Given the description of an element on the screen output the (x, y) to click on. 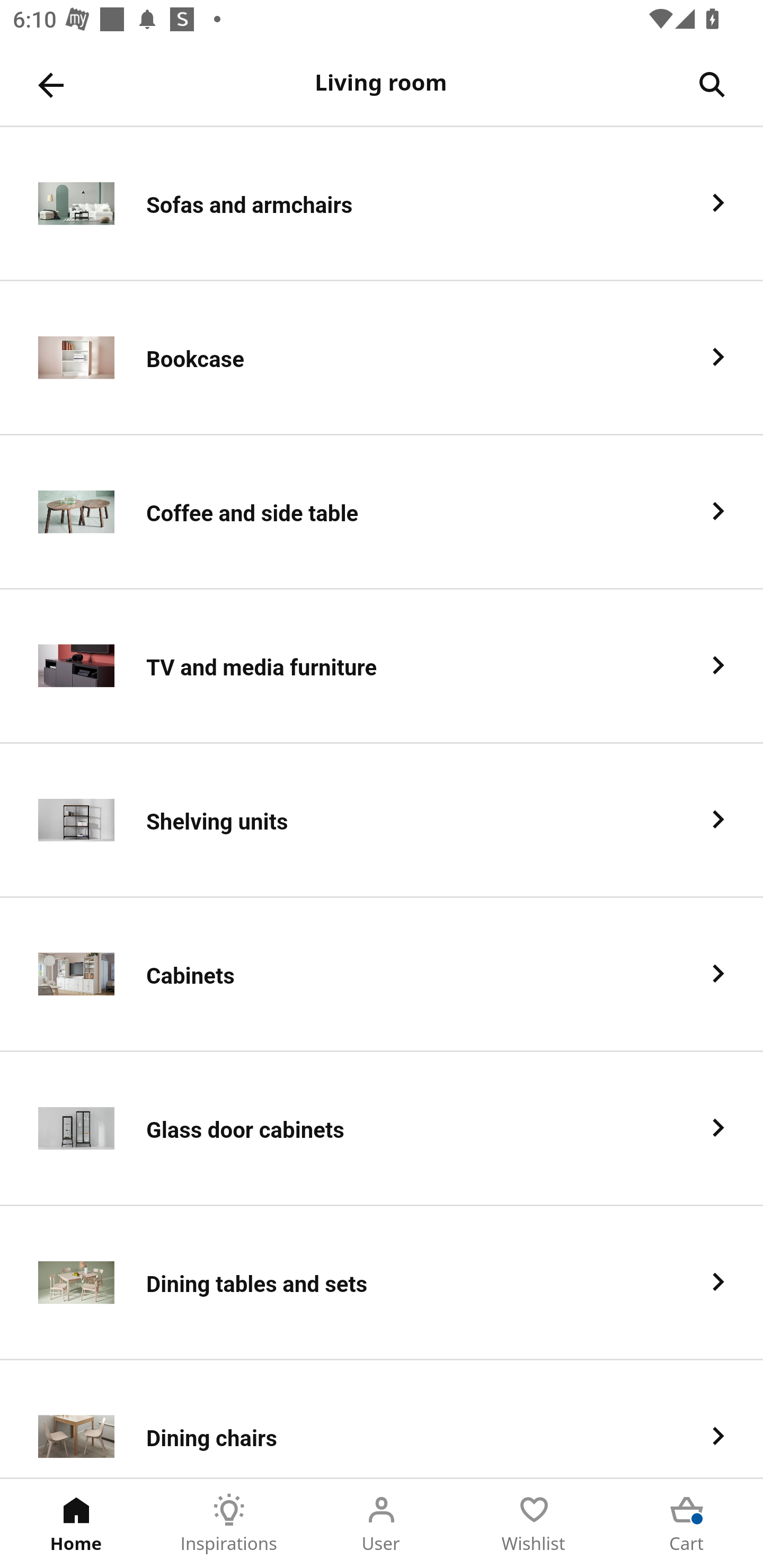
Sofas and armchairs (381, 203)
Bookcase (381, 357)
Coffee and side table (381, 512)
TV and media furniture (381, 666)
Shelving units (381, 820)
Cabinets (381, 975)
Glass door cabinets (381, 1128)
Dining tables and sets (381, 1283)
Dining chairs (381, 1419)
Home
Tab 1 of 5 (76, 1522)
Inspirations
Tab 2 of 5 (228, 1522)
User
Tab 3 of 5 (381, 1522)
Wishlist
Tab 4 of 5 (533, 1522)
Cart
Tab 5 of 5 (686, 1522)
